Given the description of an element on the screen output the (x, y) to click on. 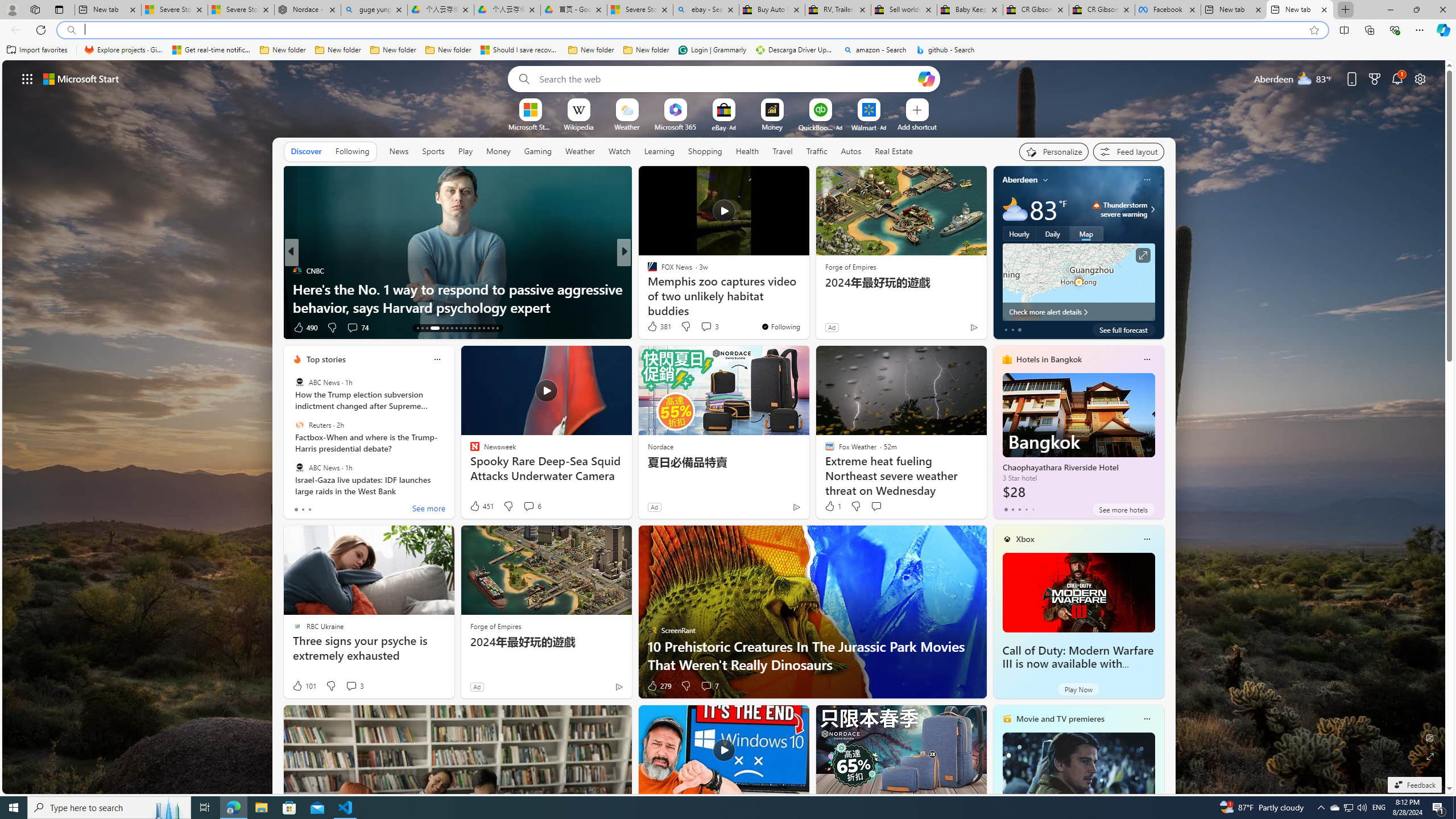
16 Like (652, 327)
Class: weather-arrow-glyph (1152, 208)
Aberdeen (1019, 179)
Enter your search term (726, 78)
Gaming (537, 151)
Click to see more information (1142, 255)
Play (465, 151)
View comments 10 Comment (704, 327)
Import favorites (36, 49)
